Given the description of an element on the screen output the (x, y) to click on. 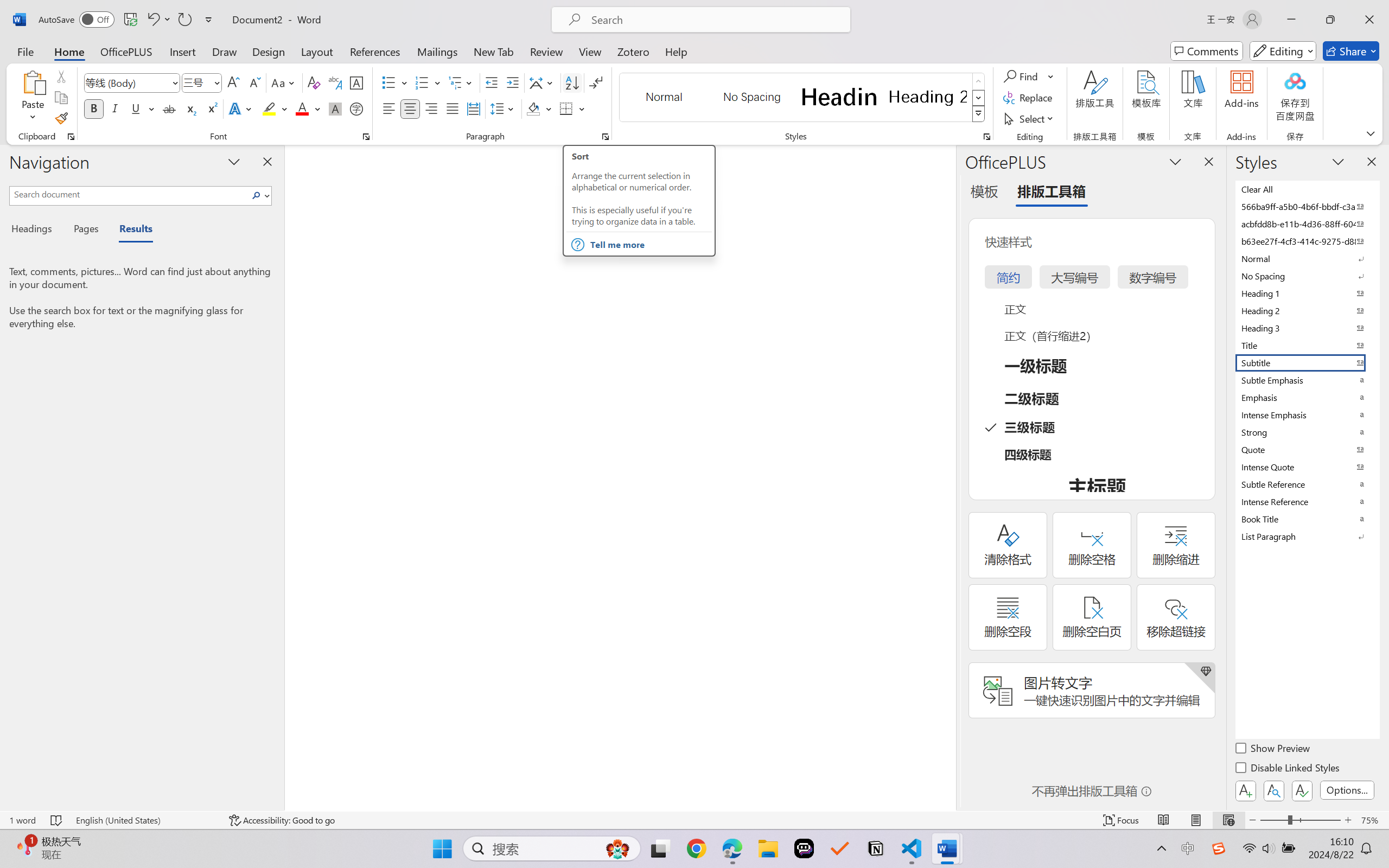
Phonetic Guide... (334, 82)
AutoSave (76, 19)
Microsoft search (715, 19)
566ba9ff-a5b0-4b6f-bbdf-c3ab41993fc2 (1306, 206)
Insert (182, 51)
Center (409, 108)
Bullets (388, 82)
Design (268, 51)
Accessibility Checker Accessibility: Good to go (282, 819)
Search (259, 195)
Heading 2 (927, 96)
